Given the description of an element on the screen output the (x, y) to click on. 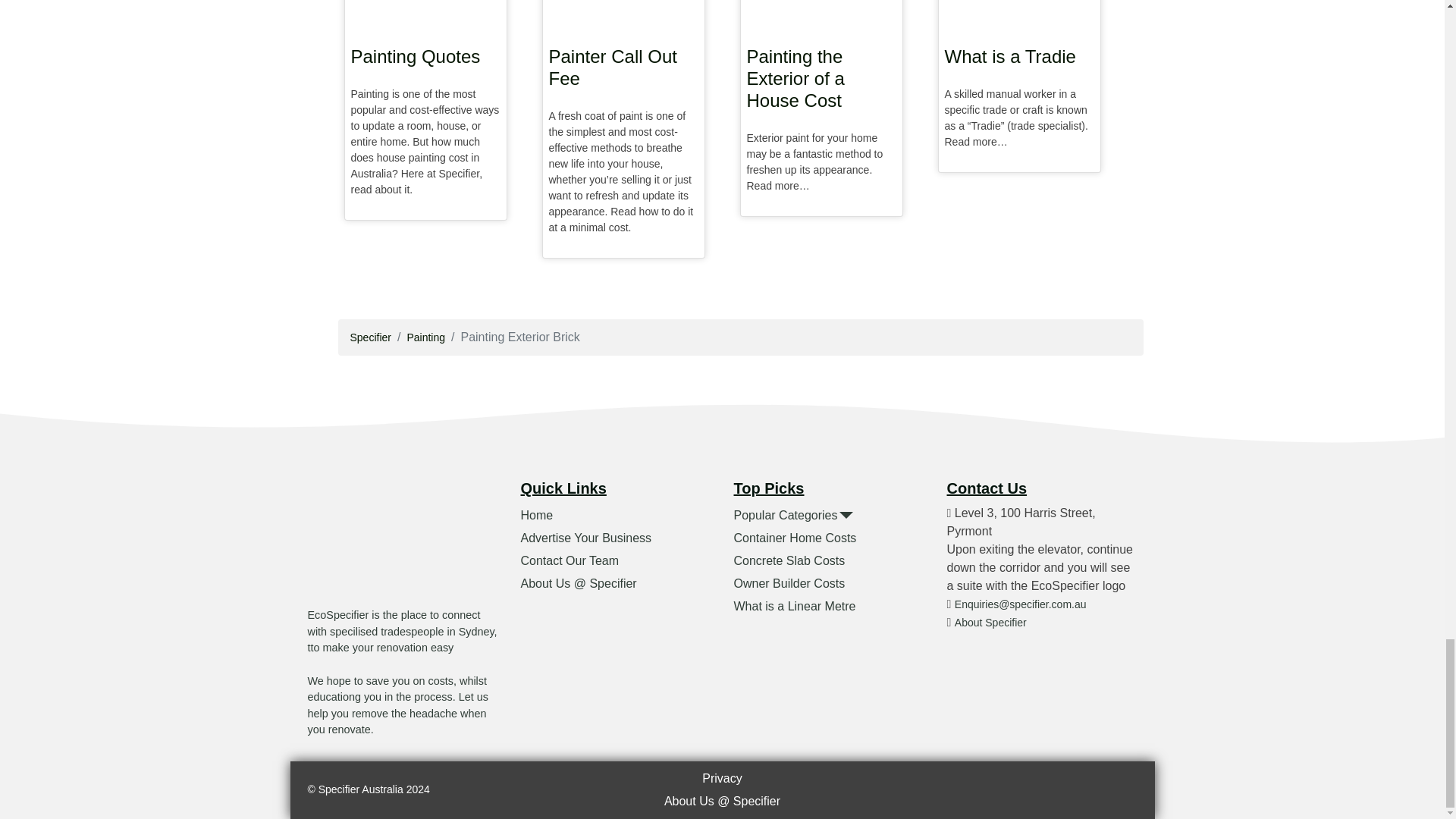
Painting the Exterior of a House Cost (820, 81)
Painting Quotes (424, 60)
Painter Call Out Fee (623, 71)
